Given the description of an element on the screen output the (x, y) to click on. 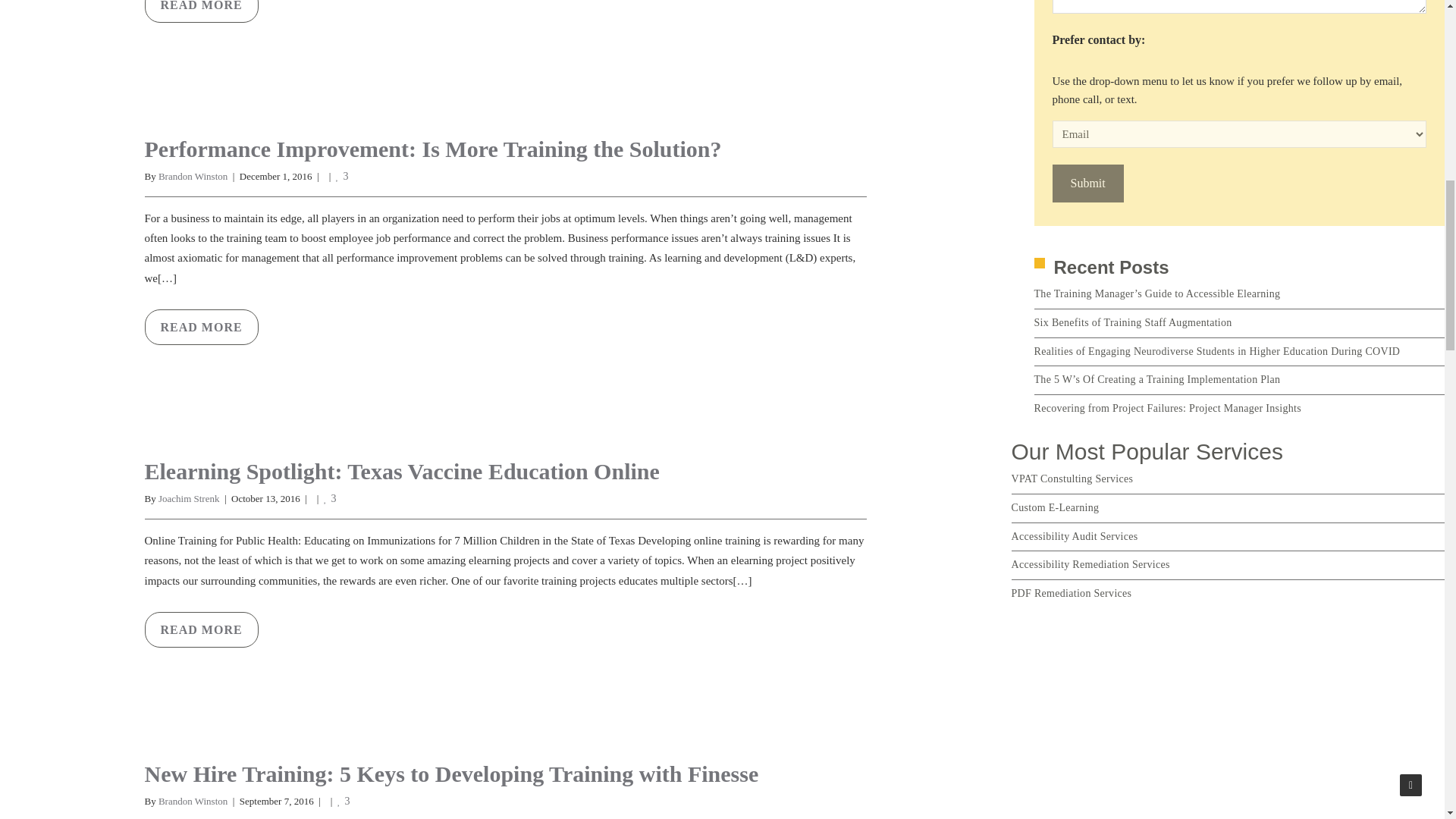
Submit (1088, 183)
